Given the description of an element on the screen output the (x, y) to click on. 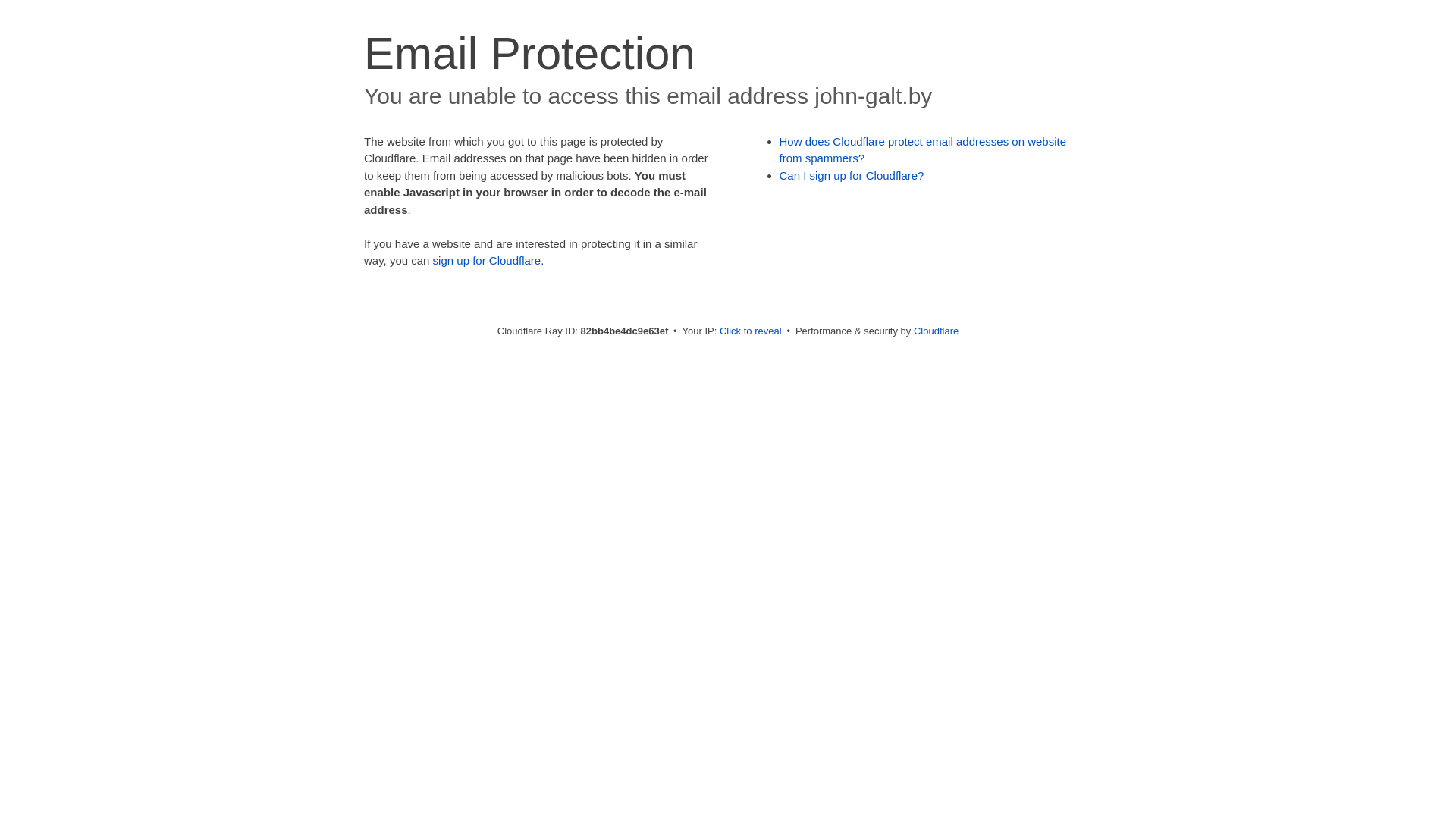
sign up for Cloudflare Element type: text (487, 260)
Can I sign up for Cloudflare? Element type: text (851, 175)
Click to reveal Element type: text (750, 330)
Cloudflare Element type: text (935, 330)
